Given the description of an element on the screen output the (x, y) to click on. 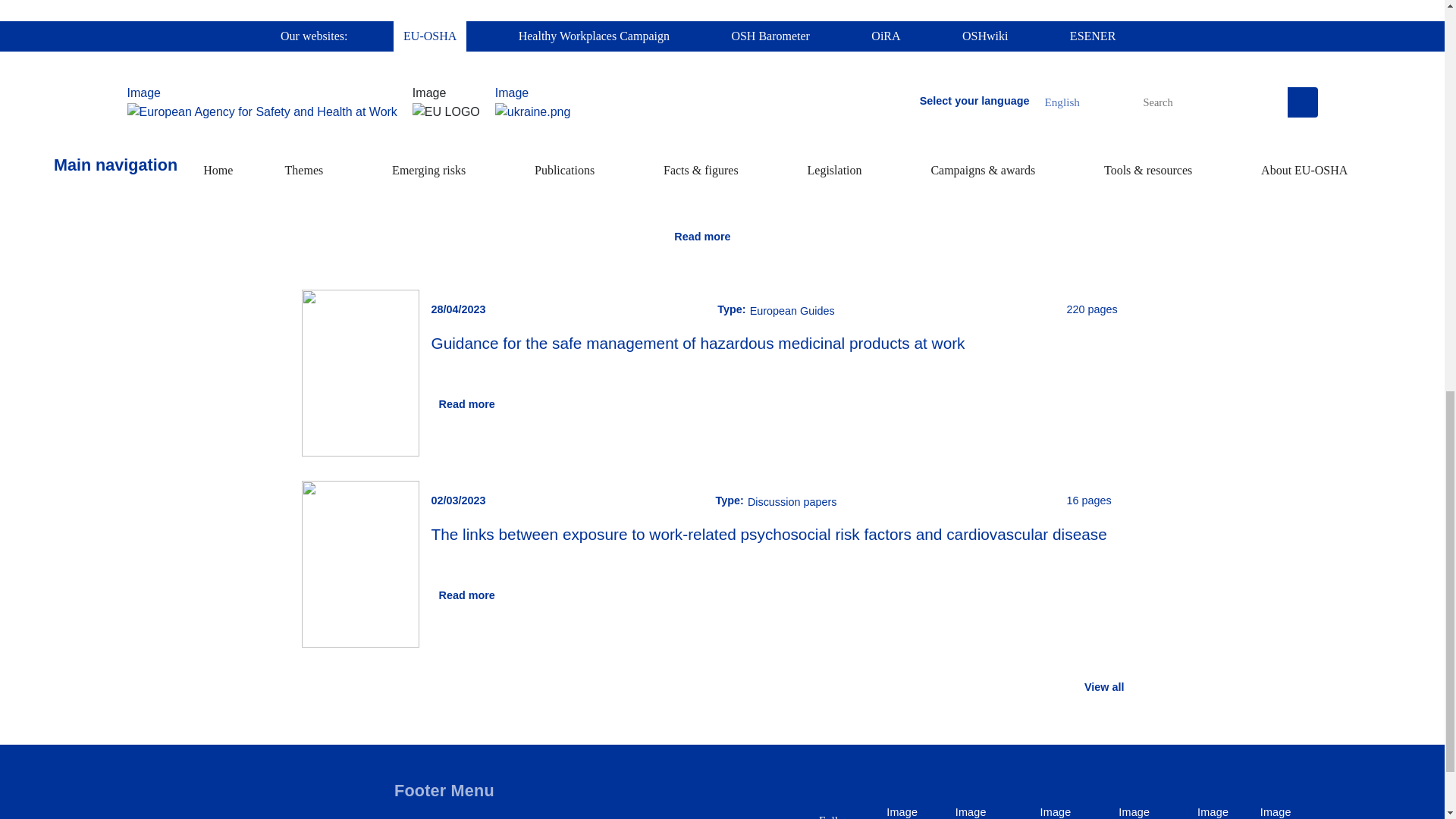
Facebook (981, 809)
Twitter (904, 809)
YouTube (1141, 809)
LinkedIn (1062, 809)
